Given the description of an element on the screen output the (x, y) to click on. 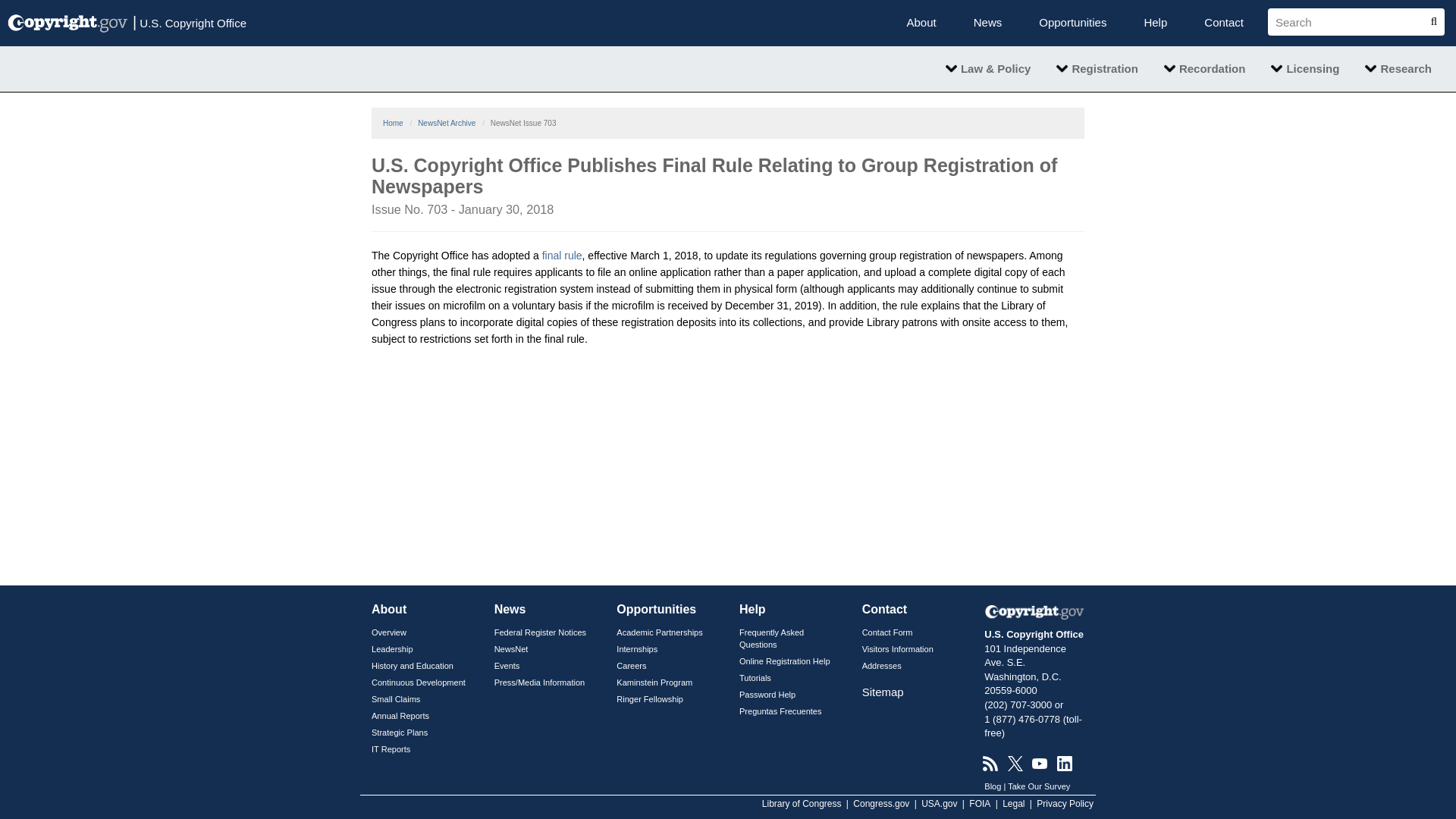
Search Copyright.gov (1350, 22)
News (987, 22)
Registration (1097, 68)
Opportunities (1072, 22)
About (921, 22)
Contact (1223, 22)
Help (1155, 22)
